Given the description of an element on the screen output the (x, y) to click on. 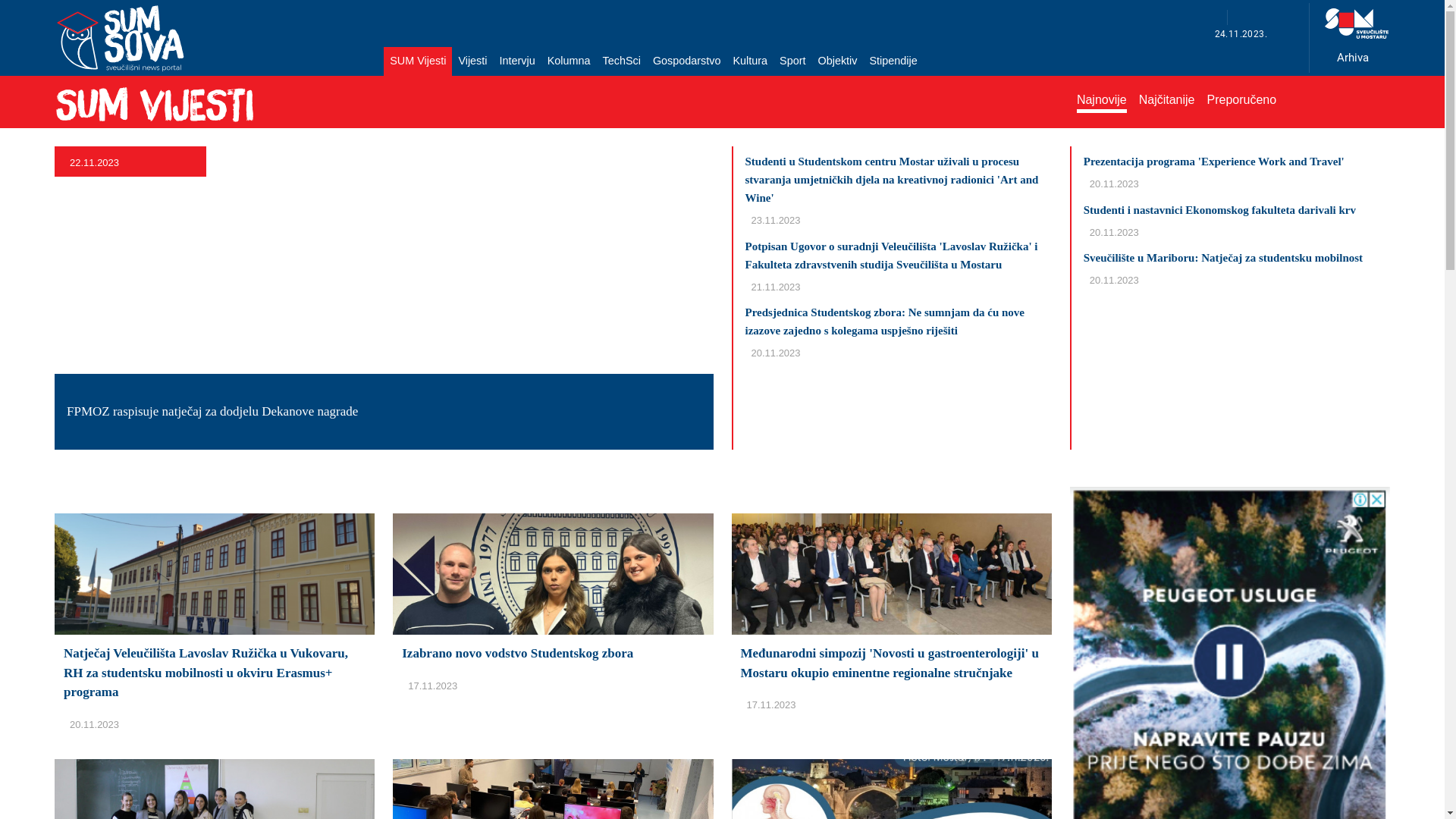
Arhiva Element type: text (1346, 56)
Izabrano novo vodstvo Studentskog zbora Element type: text (552, 588)
Prezentacija programa 'Experience Work and Travel' Element type: text (1213, 160)
SUM Vijesti Element type: text (417, 61)
Stipendije Element type: text (892, 61)
Kolumna Element type: text (568, 61)
Studenti i nastavnici Ekonomskog fakulteta darivali krv Element type: text (1219, 208)
TechSci Element type: text (621, 61)
Najnovije Element type: text (1101, 101)
Objektiv Element type: text (837, 61)
Intervju Element type: text (517, 61)
Vijesti Element type: text (471, 61)
Gospodarstvo Element type: text (686, 61)
Kultura Element type: text (749, 61)
Sport Element type: text (792, 61)
